Given the description of an element on the screen output the (x, y) to click on. 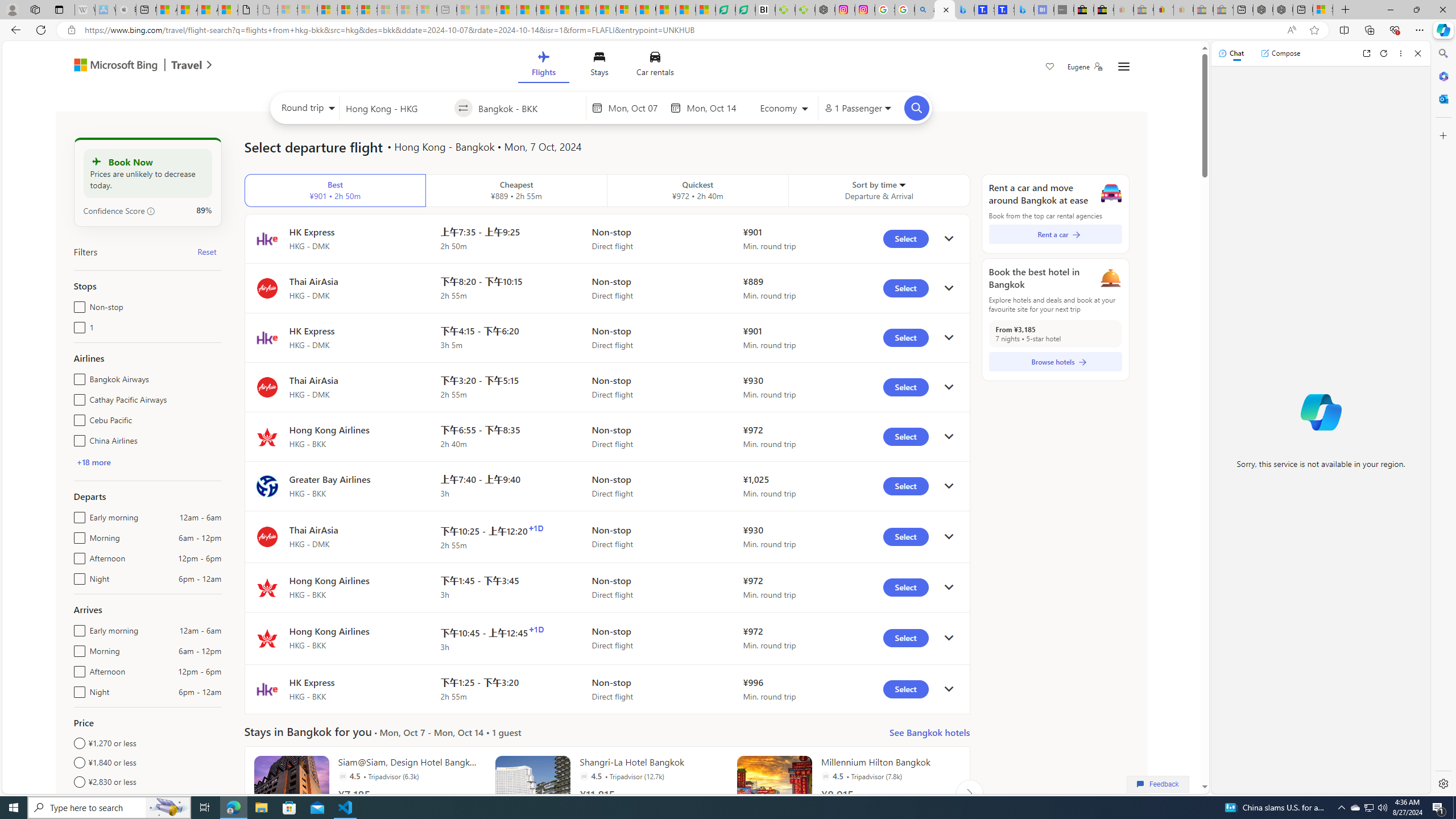
Car rentals (654, 65)
Microsoft account | Account Checkup - Sleeping (427, 9)
Going to? (528, 107)
Save (1049, 67)
Flights (542, 65)
Select trip type (305, 110)
